Given the description of an element on the screen output the (x, y) to click on. 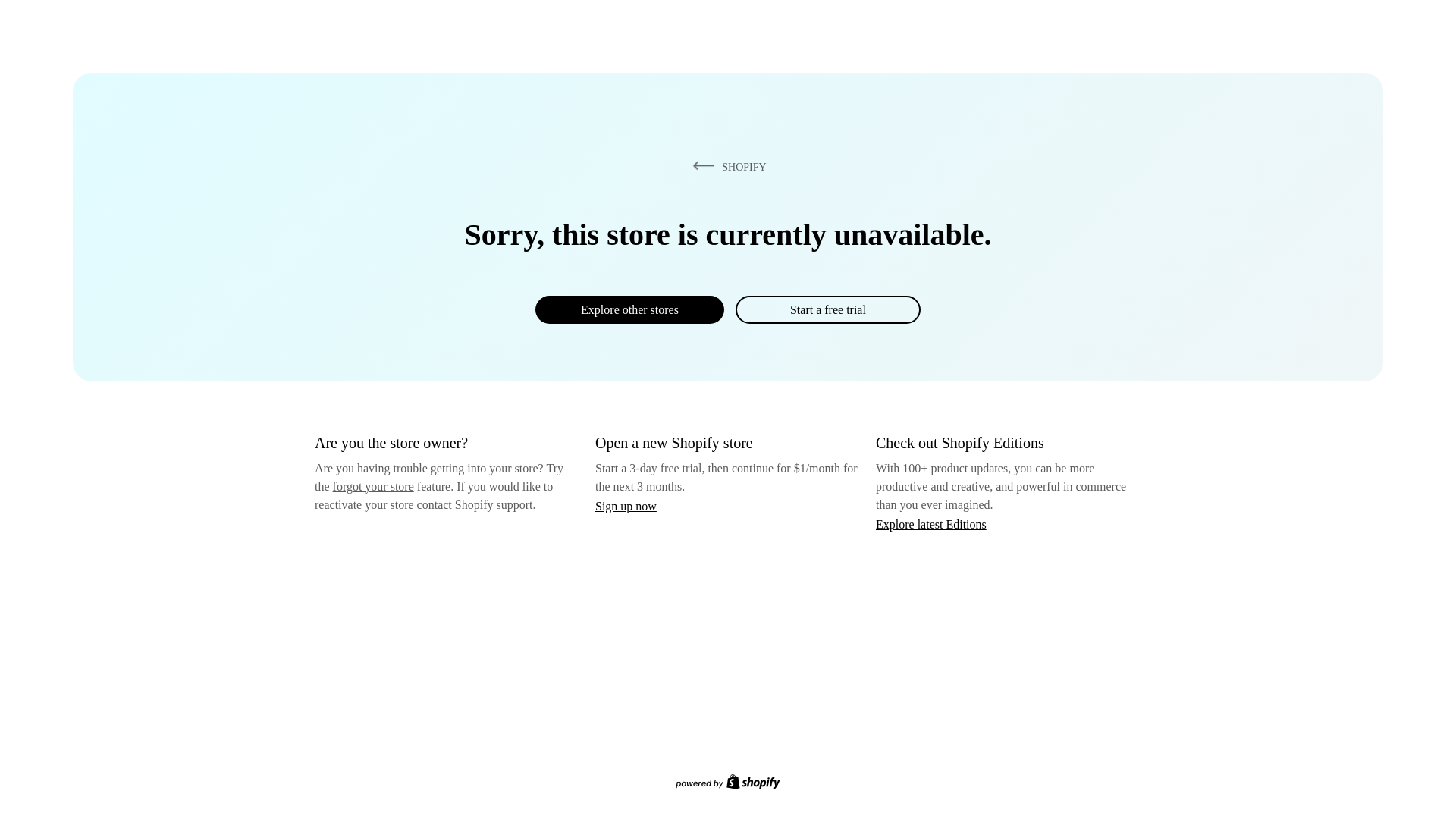
forgot your store (373, 486)
SHOPIFY (726, 166)
Shopify support (493, 504)
Sign up now (625, 505)
Start a free trial (827, 309)
Explore other stores (629, 309)
Explore latest Editions (931, 523)
